Given the description of an element on the screen output the (x, y) to click on. 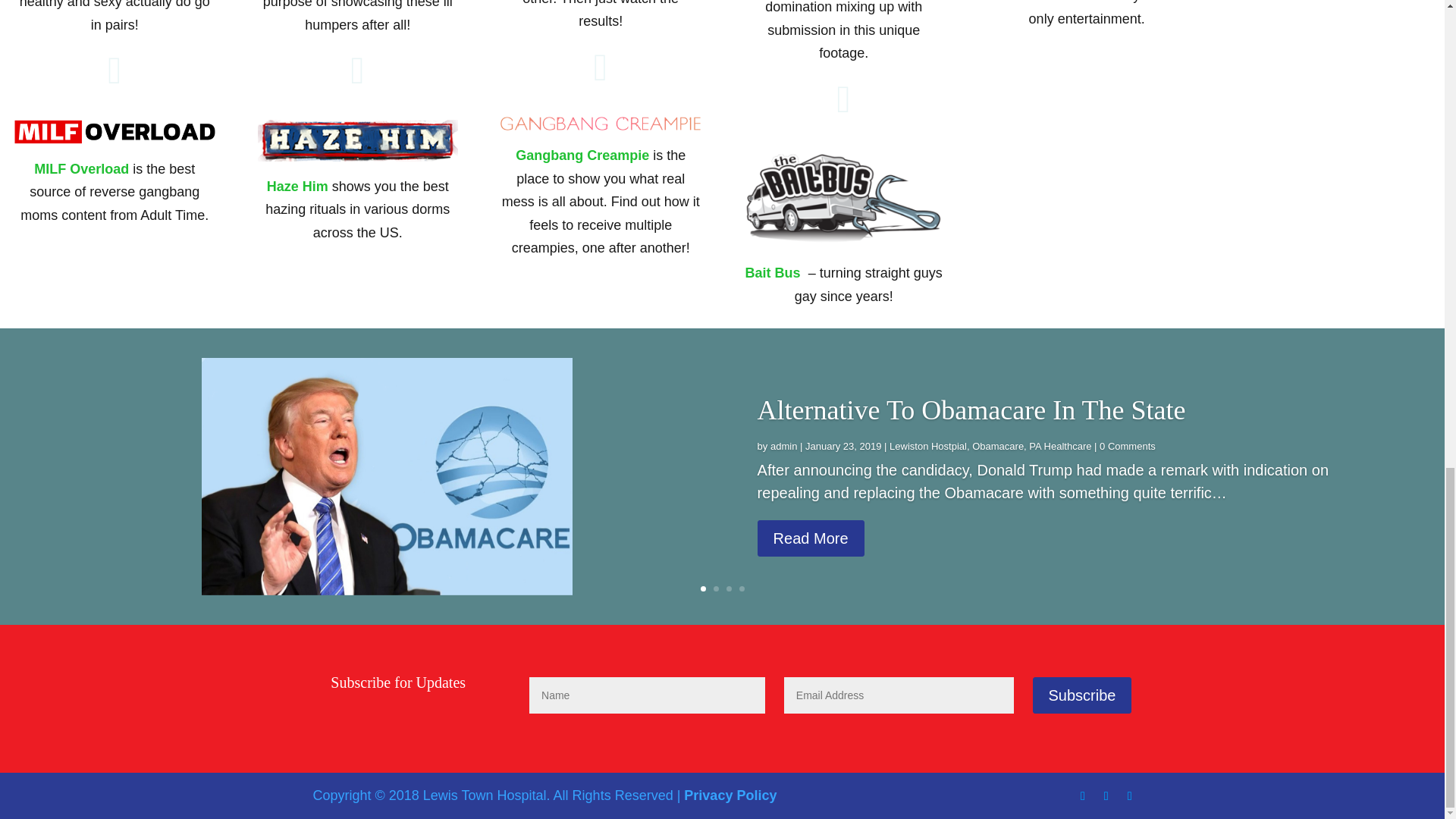
MILF Overload (81, 168)
Posts by admin (783, 446)
Haze Him (297, 186)
